Given the description of an element on the screen output the (x, y) to click on. 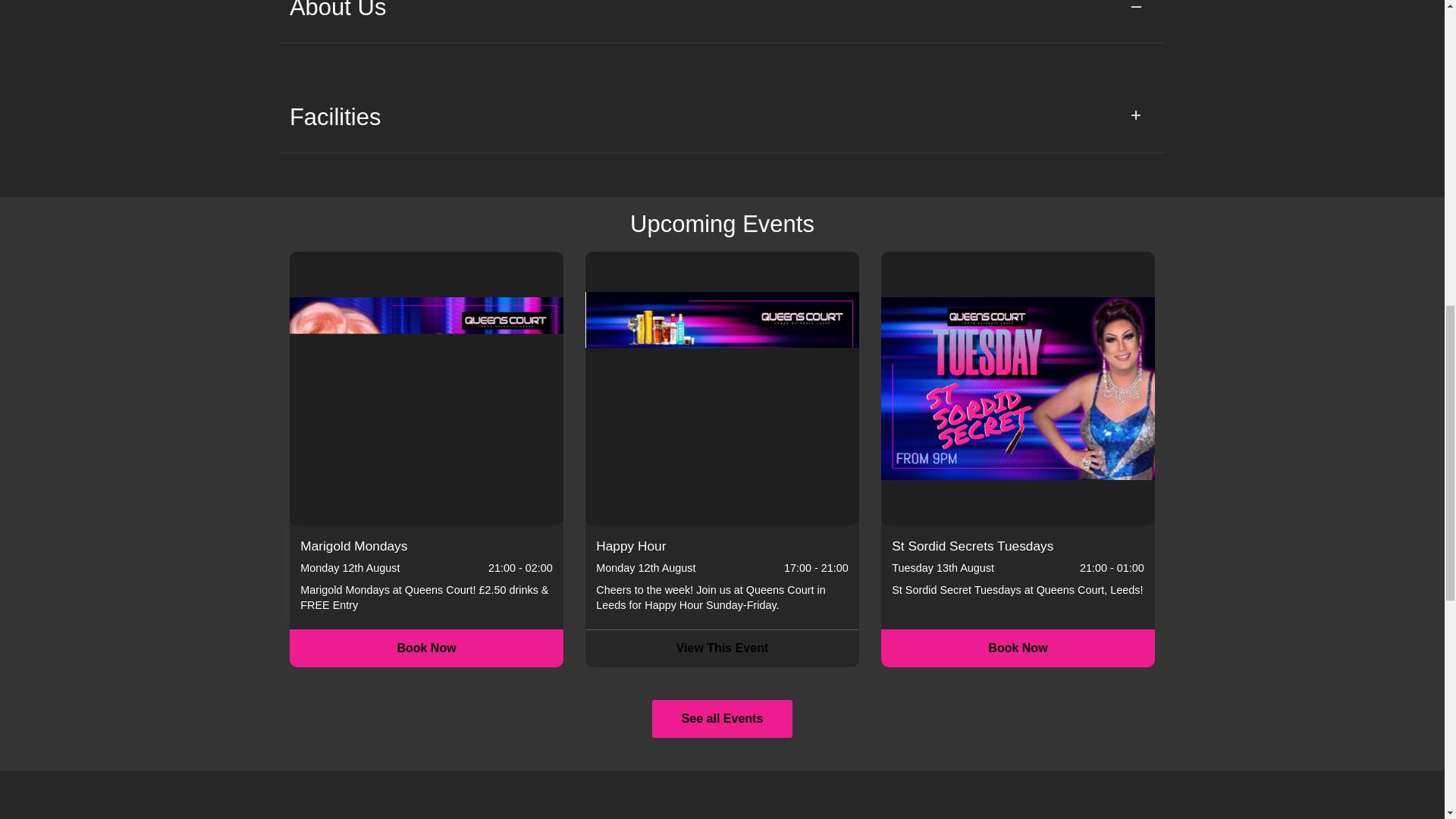
Happy Hour (722, 388)
St Sordid Secrets Tuesdays (1017, 388)
Marigold Mondays (426, 388)
